Given the description of an element on the screen output the (x, y) to click on. 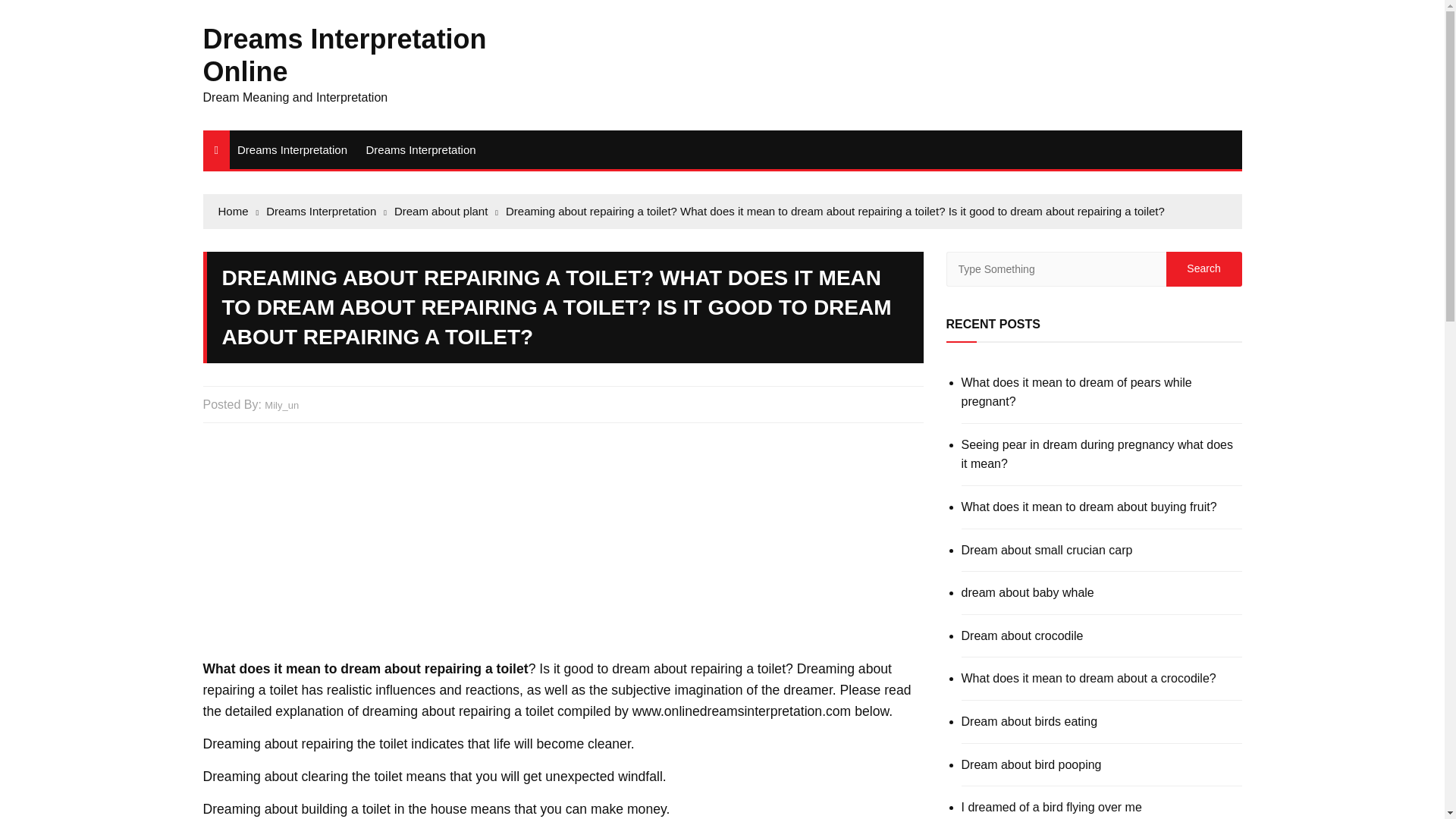
Dreams Interpretation (292, 149)
Search (1203, 268)
Dreams Interpretation (420, 149)
Dreams Interpretation Online (344, 54)
